Given the description of an element on the screen output the (x, y) to click on. 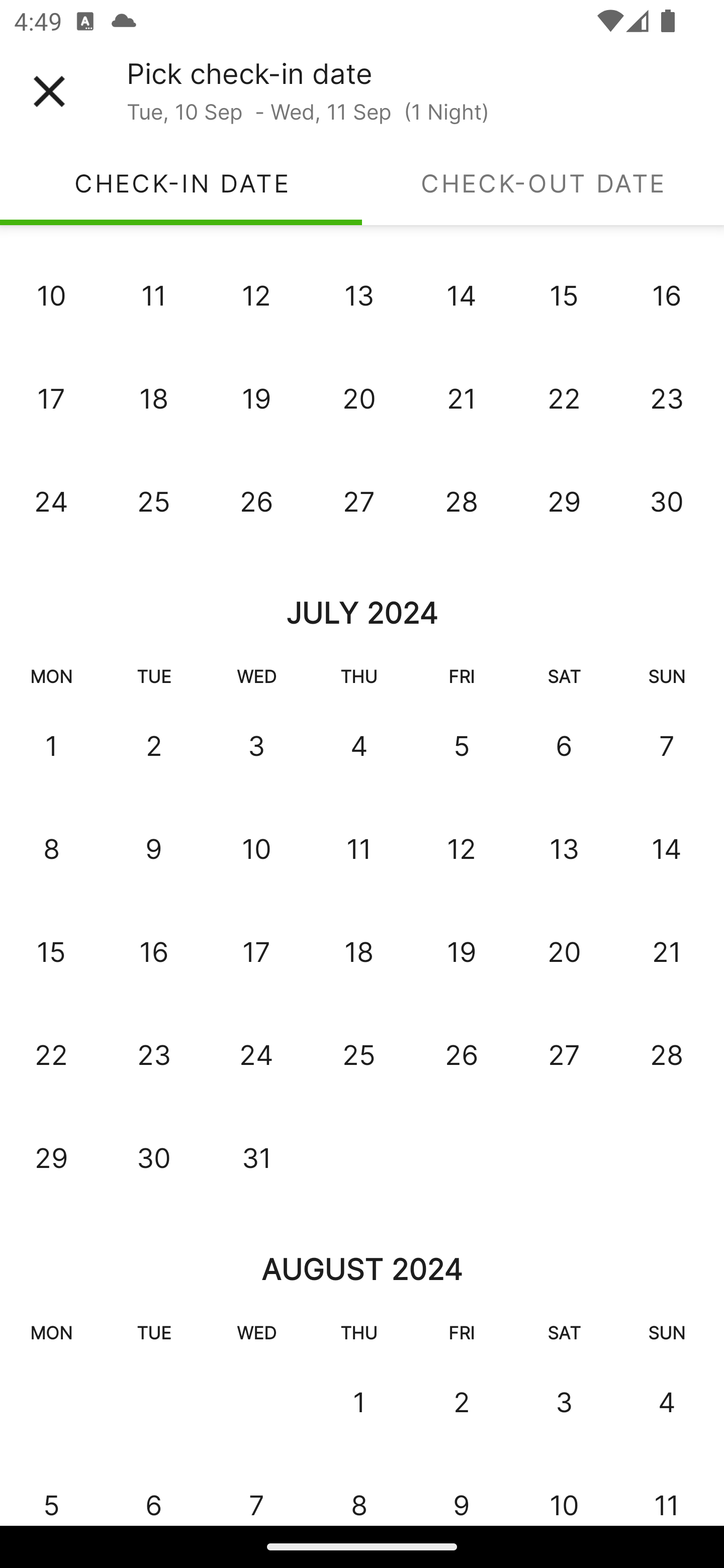
Check-out Date CHECK-OUT DATE (543, 183)
